Given the description of an element on the screen output the (x, y) to click on. 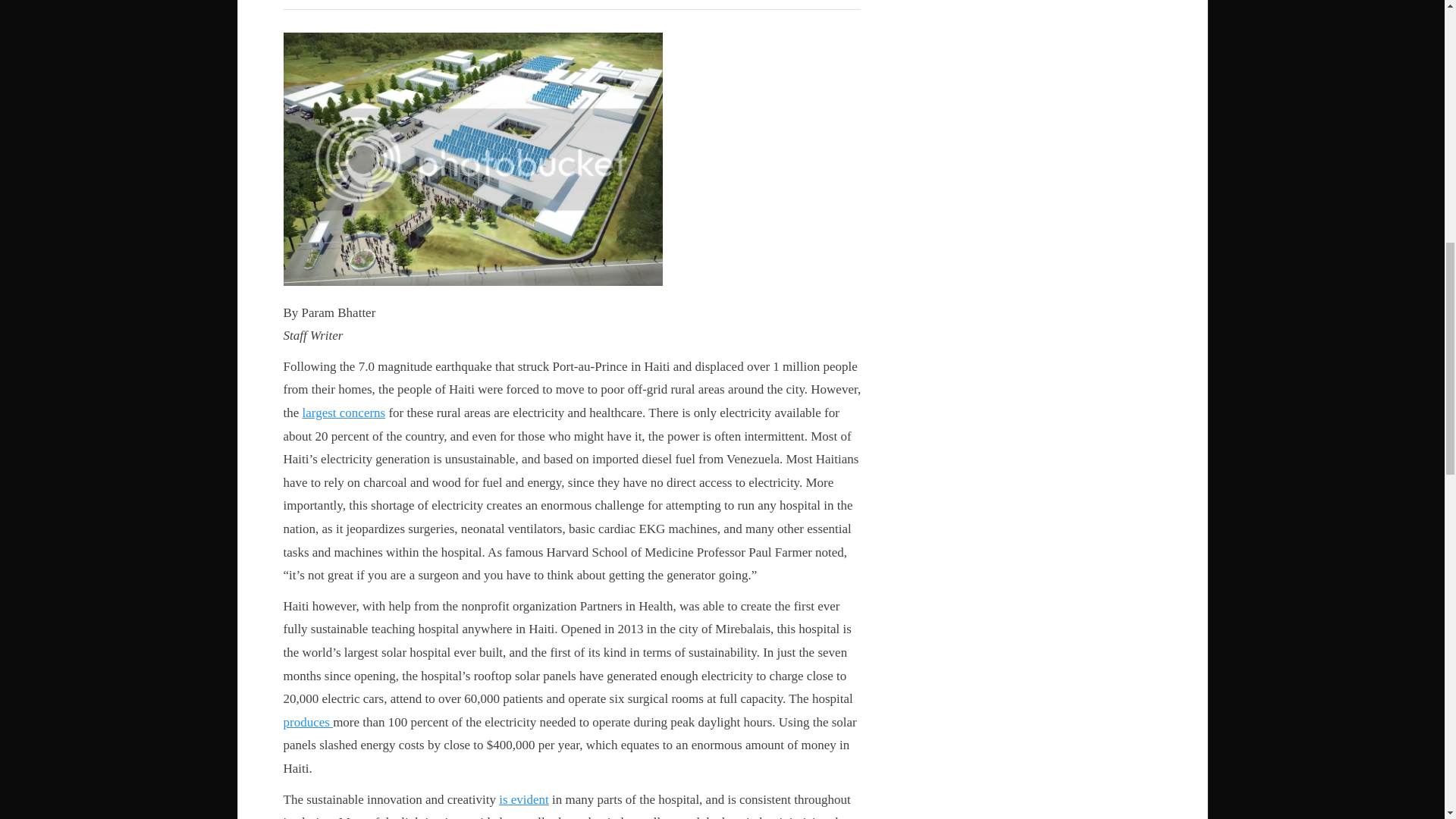
produces (308, 721)
is evident (523, 799)
largest concerns (343, 412)
